Given the description of an element on the screen output the (x, y) to click on. 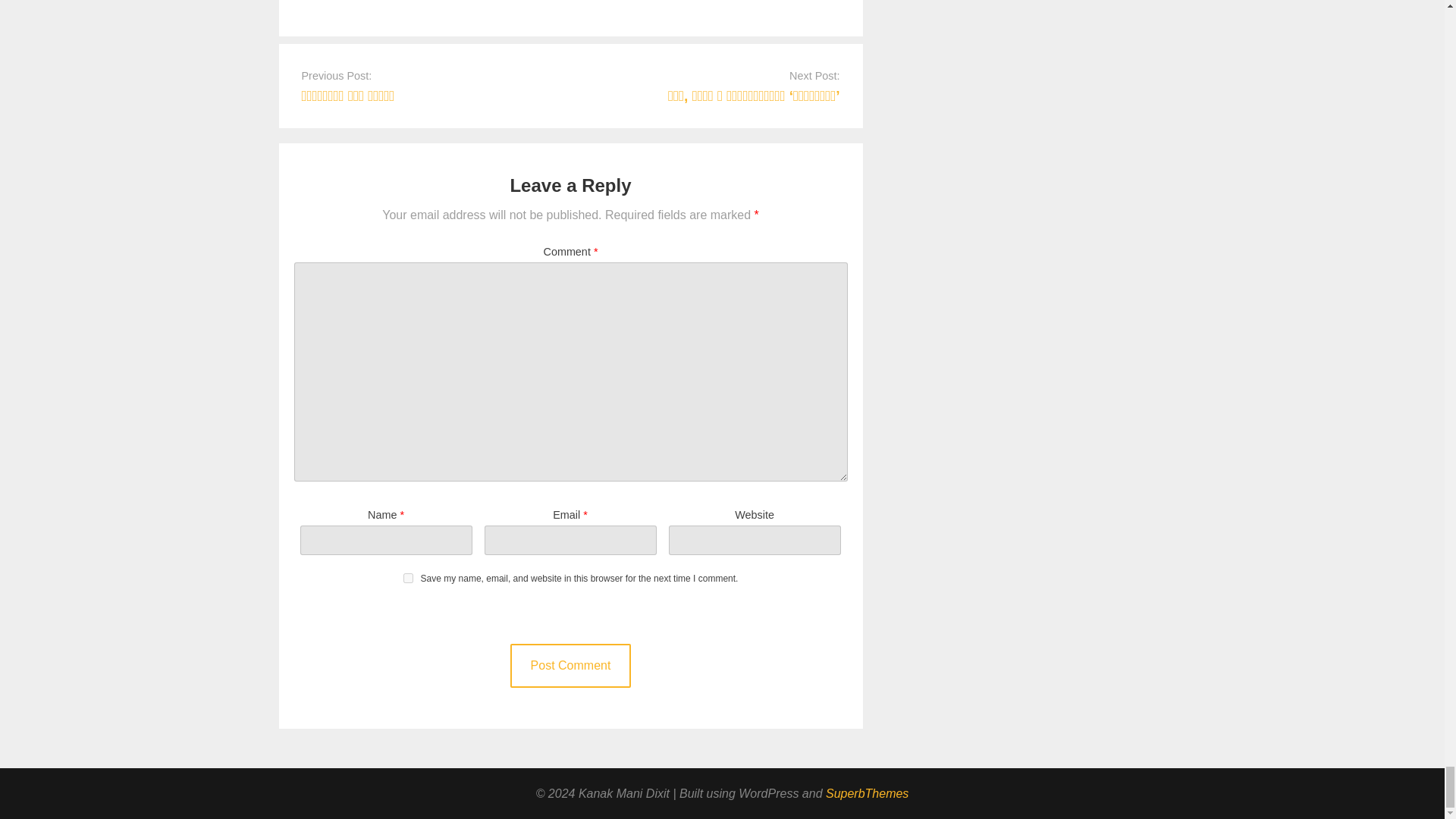
yes (408, 578)
Post Comment (571, 665)
Post Comment (571, 665)
